Given the description of an element on the screen output the (x, y) to click on. 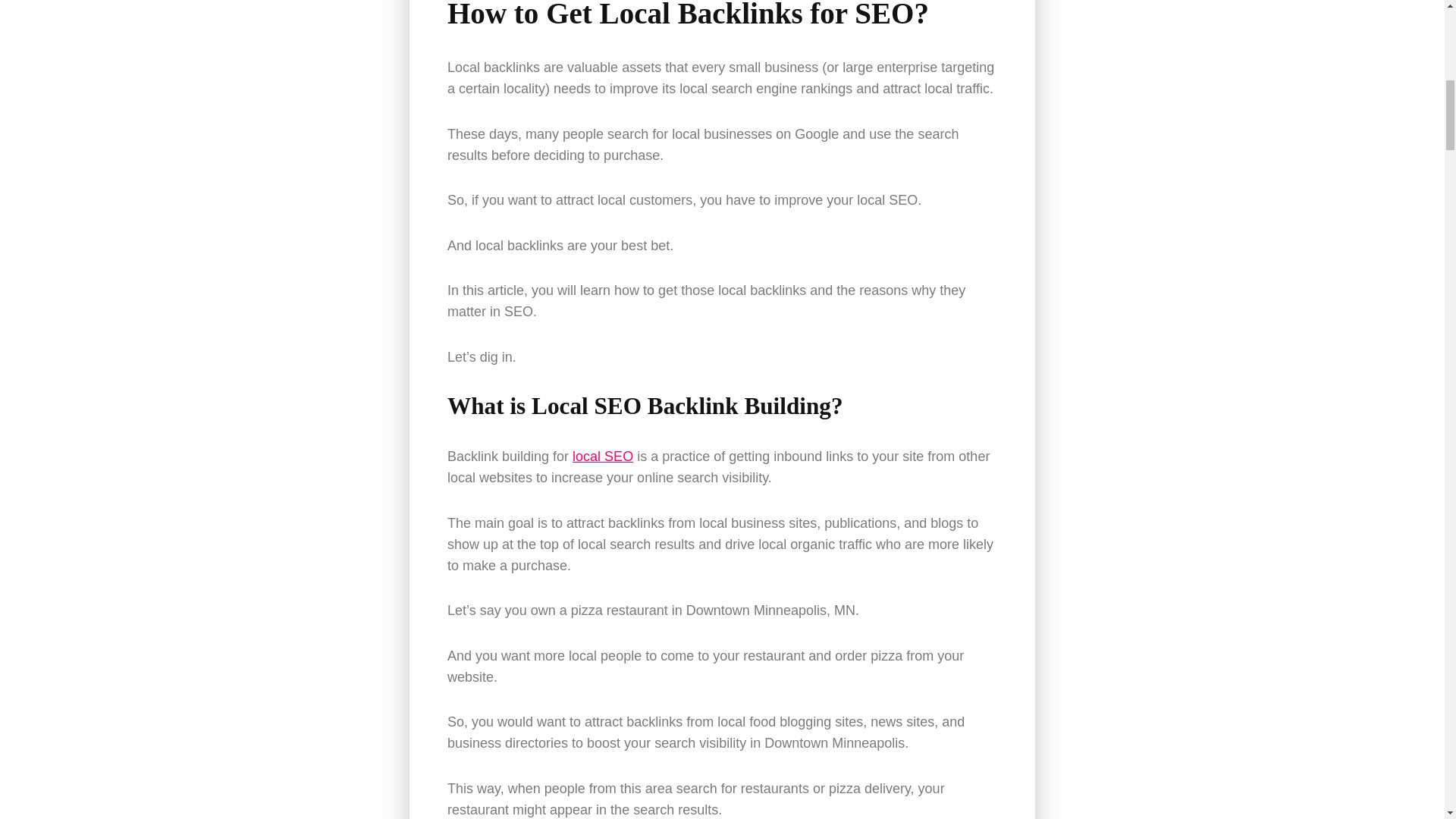
local SEO (602, 456)
